Given the description of an element on the screen output the (x, y) to click on. 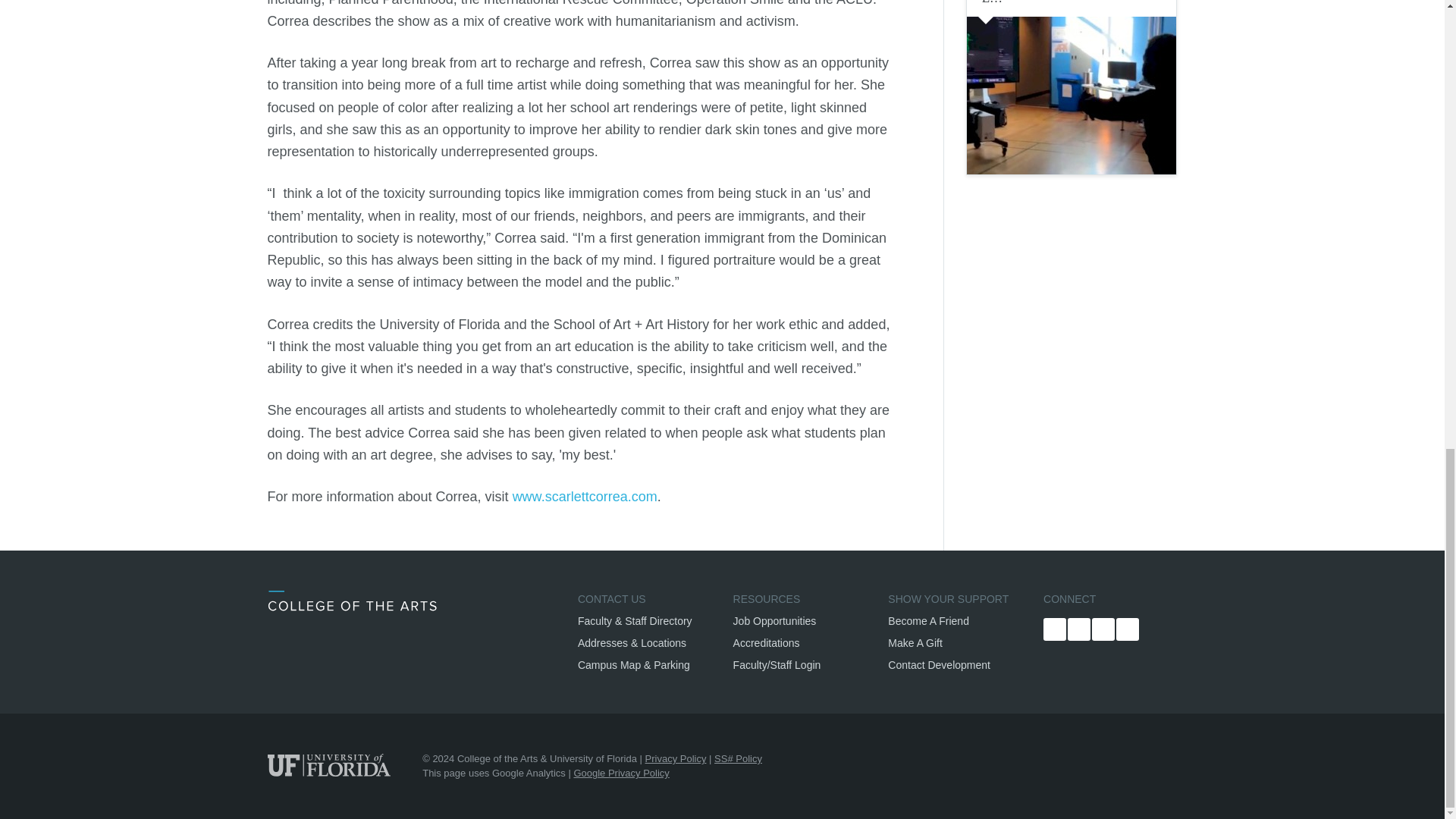
www.scarlettcorrea.com (585, 496)
